Given the description of an element on the screen output the (x, y) to click on. 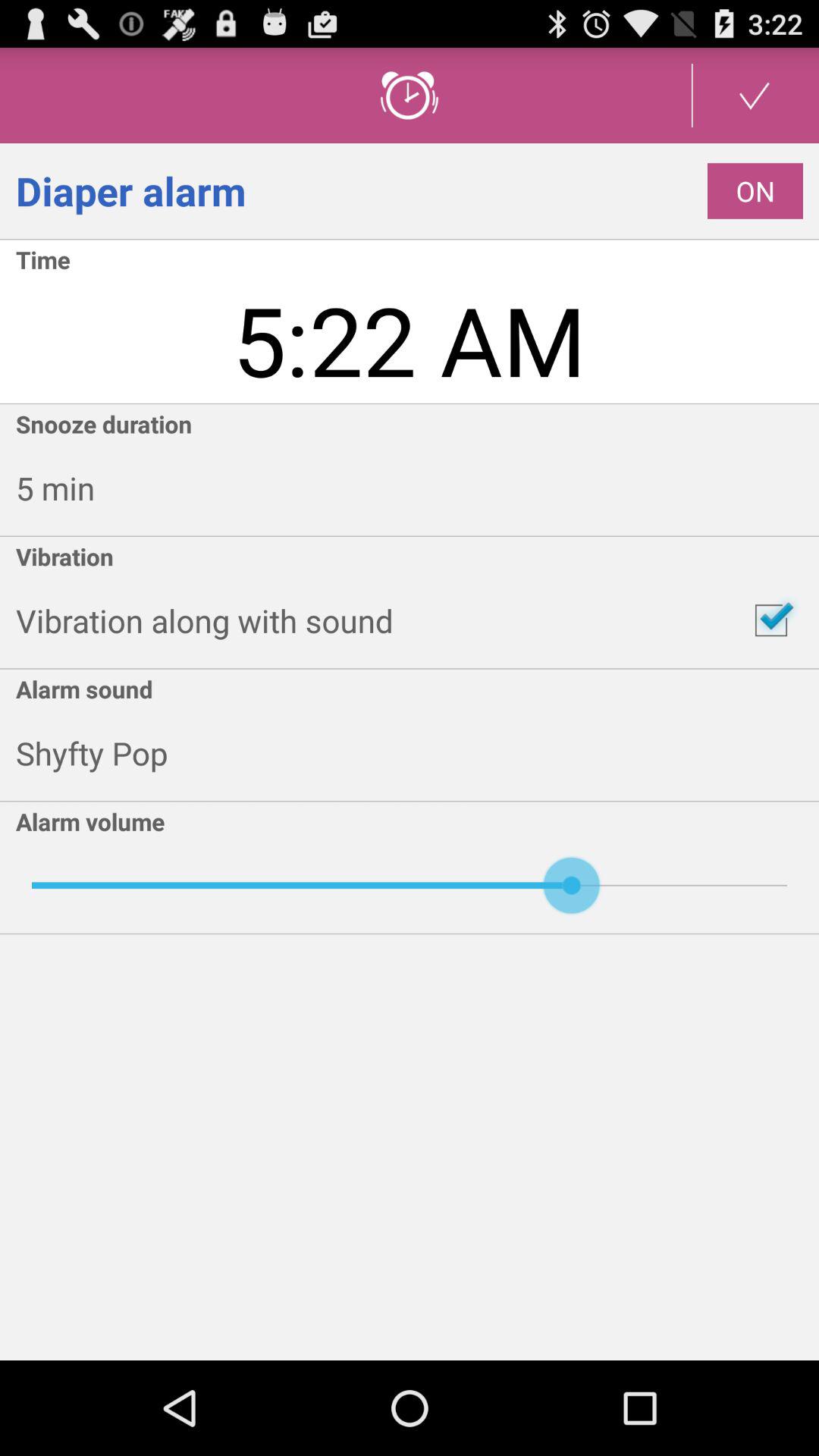
flip until 5:22 am (409, 339)
